Given the description of an element on the screen output the (x, y) to click on. 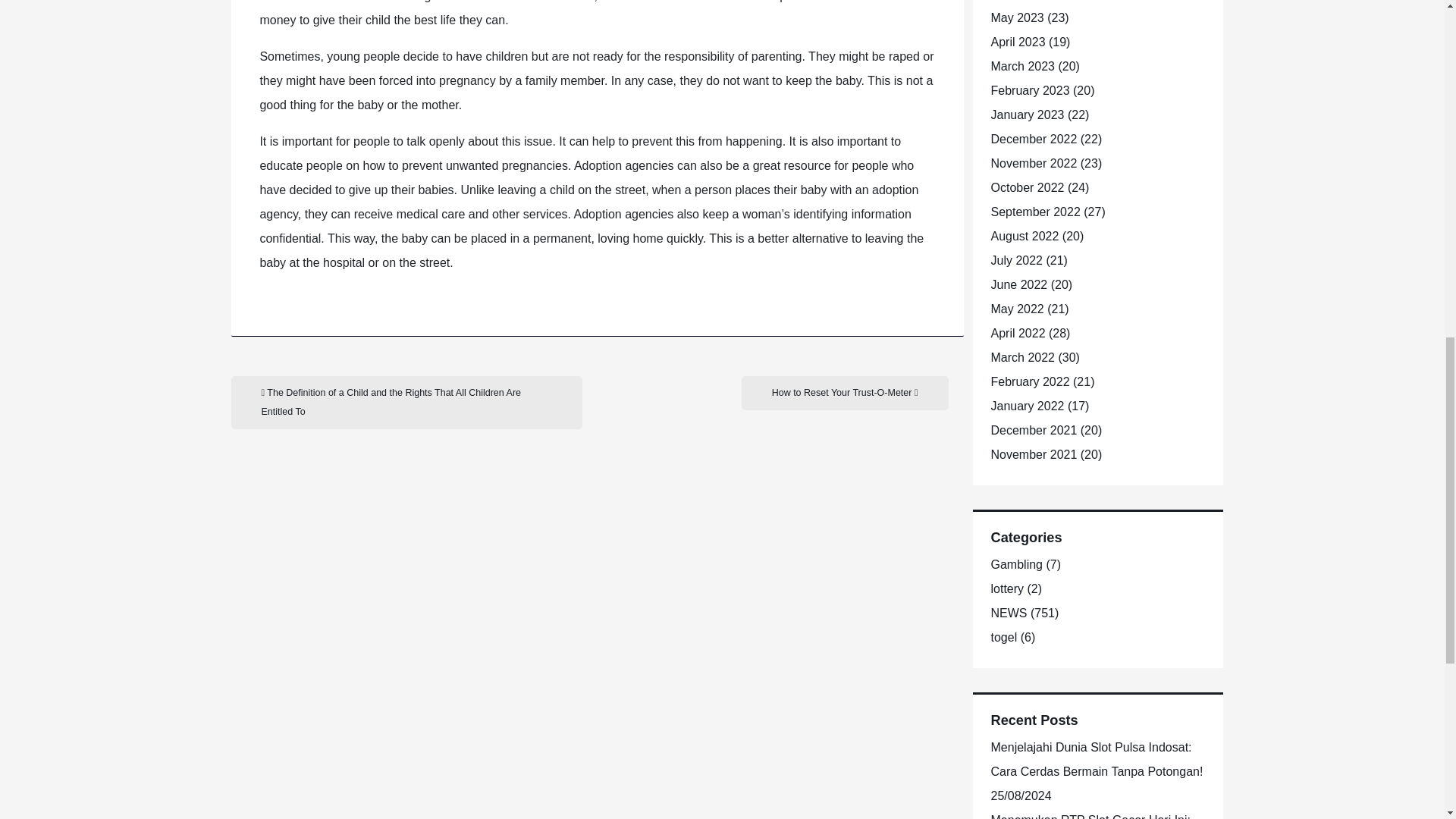
March 2023 (1022, 65)
October 2022 (1027, 187)
December 2022 (1033, 138)
September 2022 (1035, 211)
February 2023 (1029, 90)
June 2022 (1018, 284)
April 2022 (1017, 332)
May 2022 (1016, 308)
April 2023 (1017, 42)
